Given the description of an element on the screen output the (x, y) to click on. 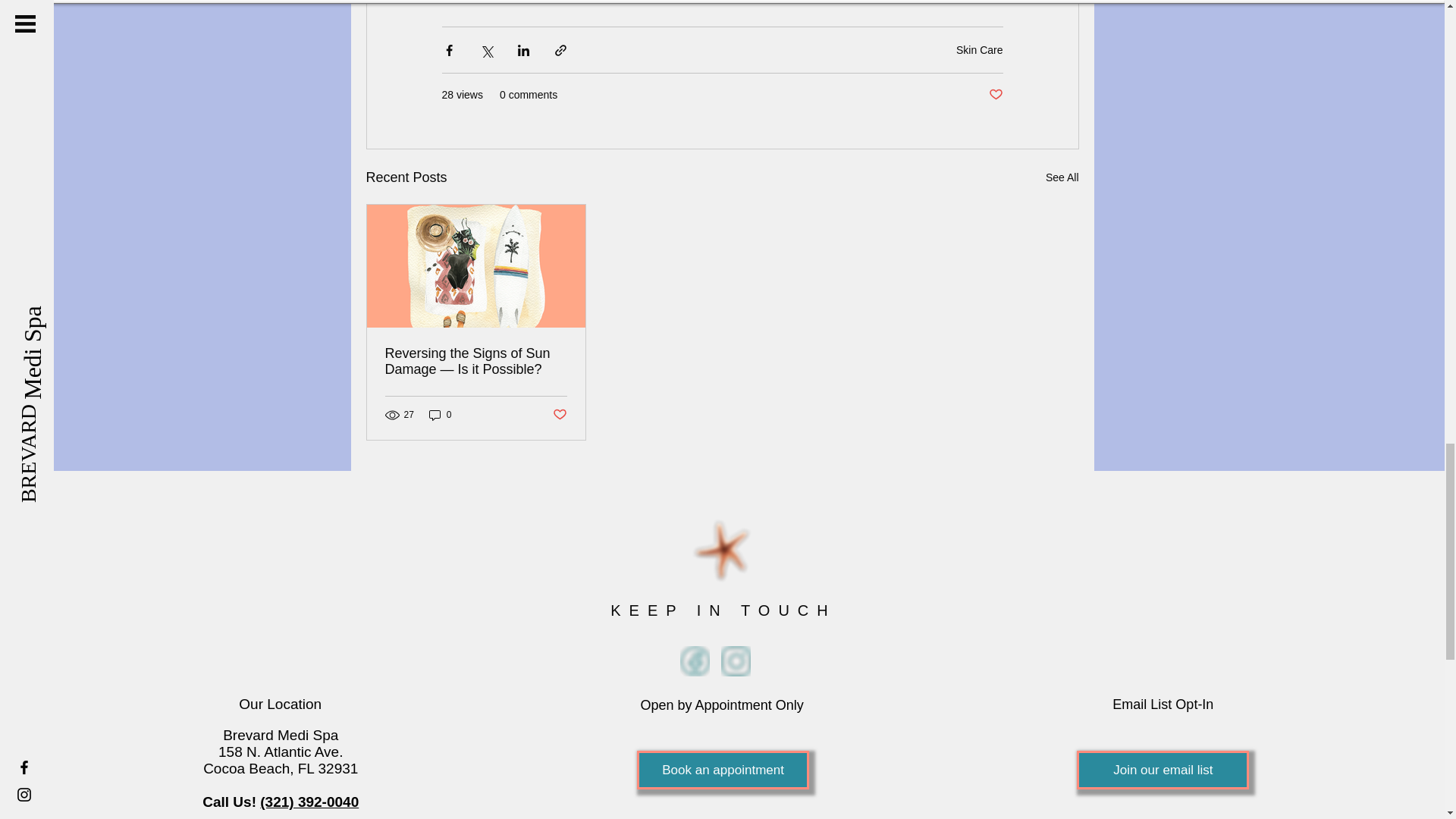
Post not marked as liked (995, 94)
0 (440, 414)
See All (1061, 178)
prescription skincare (701, 2)
Post not marked as liked (558, 415)
Skin Care (979, 50)
medical grade skincare (572, 2)
Book an appointment (723, 770)
Join our email list (1163, 770)
Skincare (471, 2)
